Given the description of an element on the screen output the (x, y) to click on. 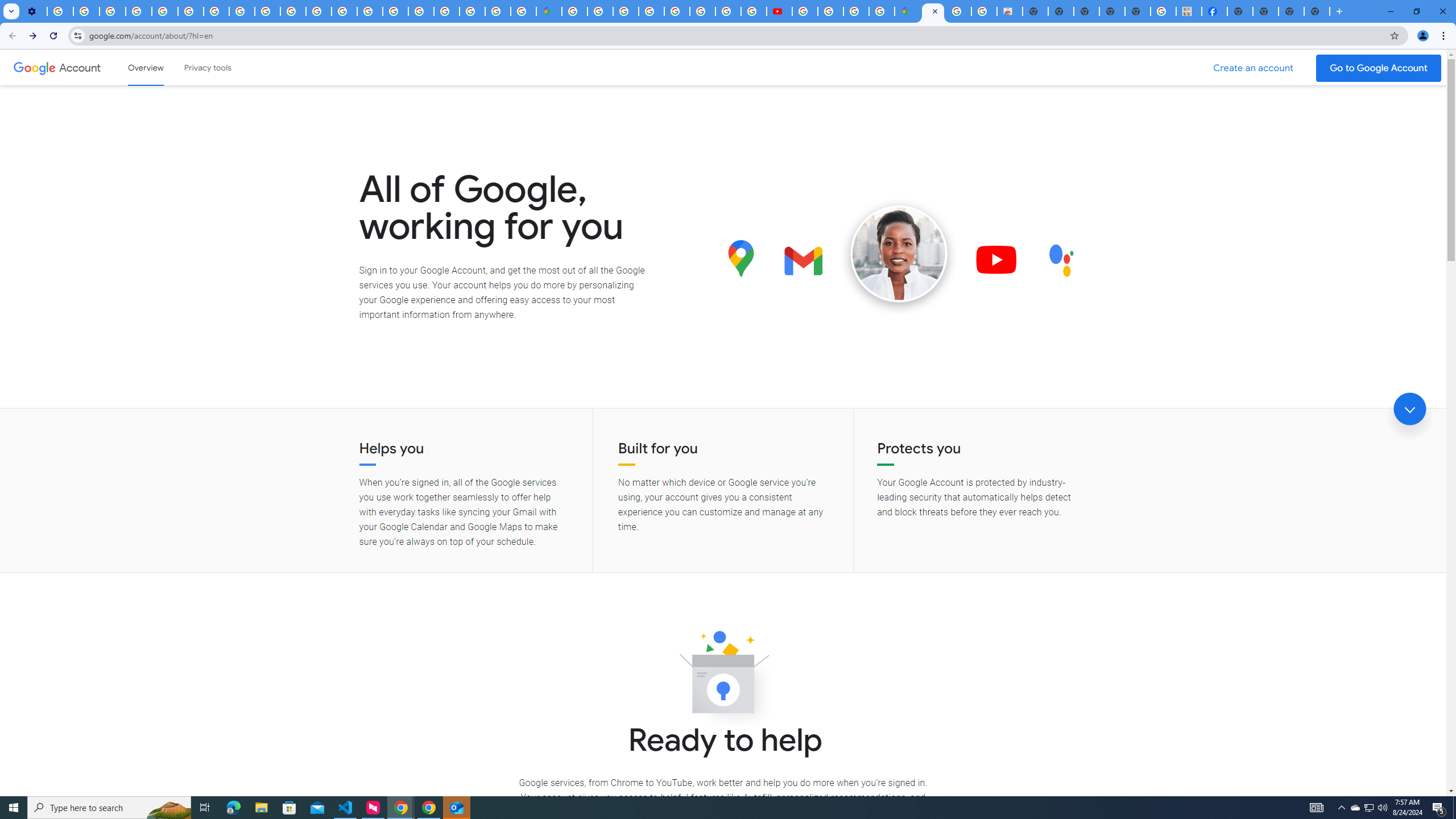
Google Account Help (138, 11)
Google Account overview (145, 67)
Privacy Checkup (293, 11)
Subscriptions - YouTube (779, 11)
https://scholar.google.com/ (318, 11)
Go to your Google Account (1378, 67)
Google logo (34, 67)
